Given the description of an element on the screen output the (x, y) to click on. 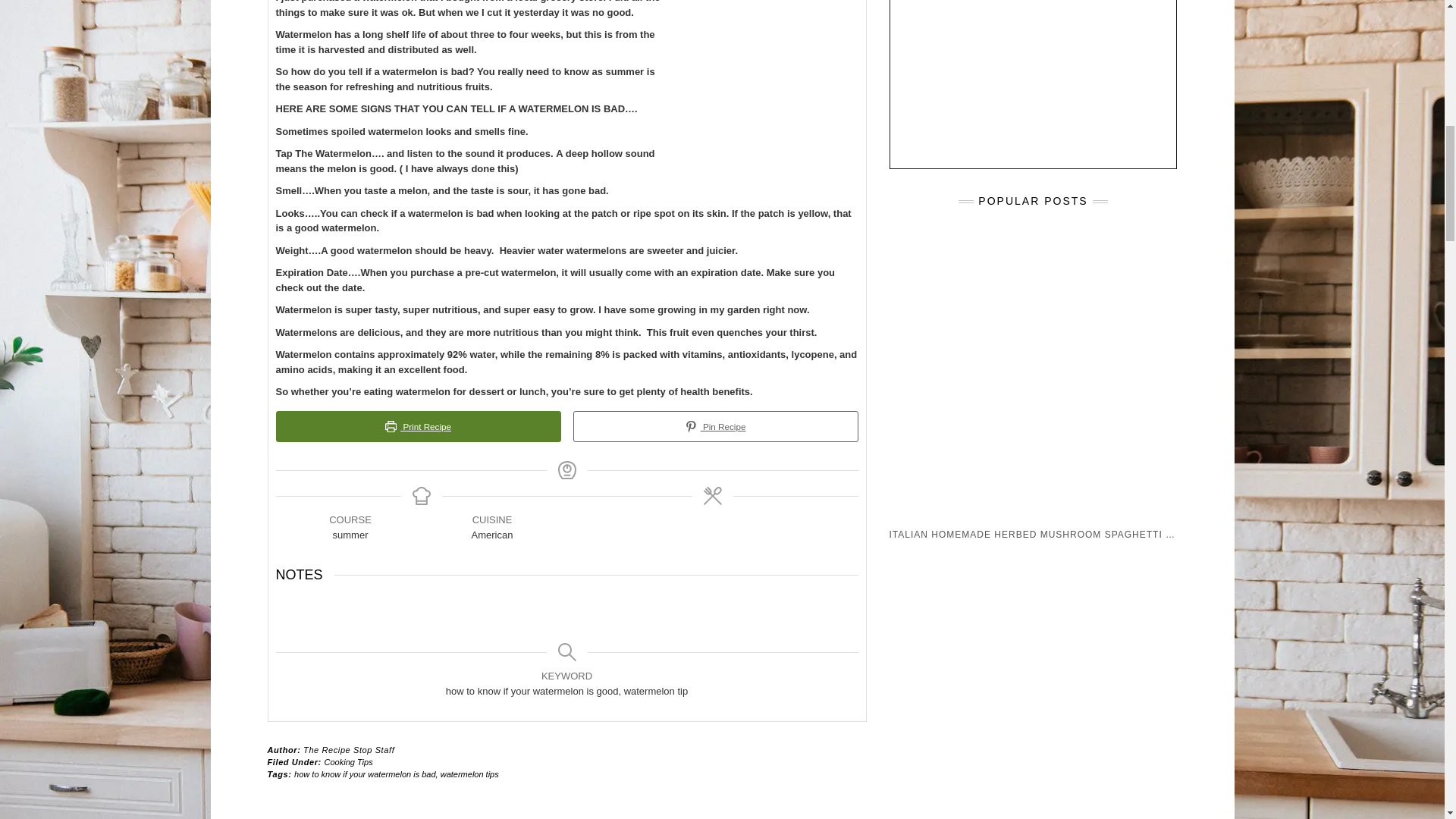
The Recipe Stop Staff (348, 749)
how to know if your watermelon is bad (364, 773)
Print Recipe (418, 427)
 SEMI-HOMEMADE PEACH COBBLER (1035, 761)
watermelon tips (470, 773)
Posts by The Recipe Stop Staff (348, 749)
Pin Recipe (716, 427)
Cooking Tips (348, 761)
